Given the description of an element on the screen output the (x, y) to click on. 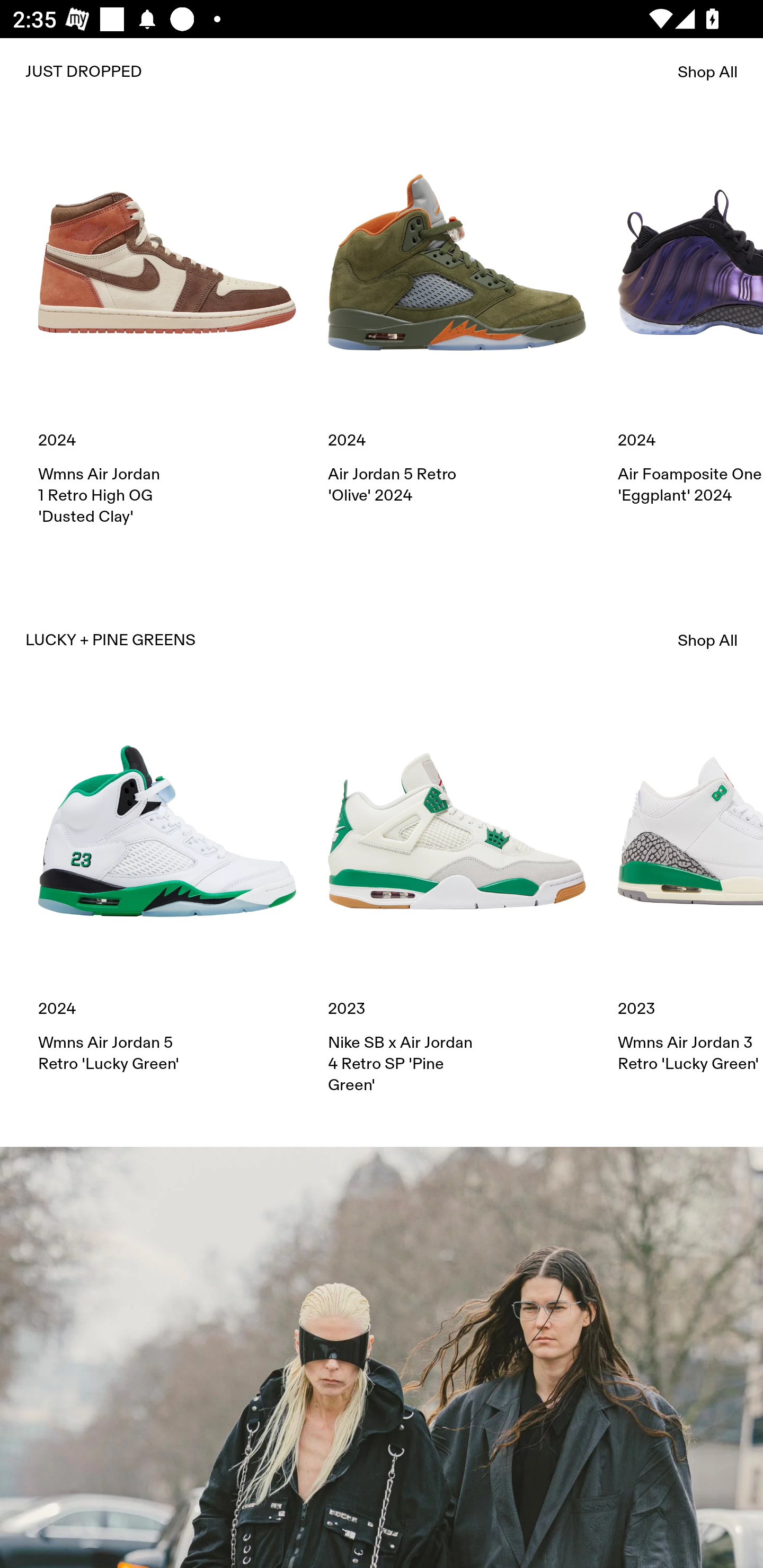
Shop All (707, 71)
2024 Wmns Air Jordan 1 Retro High OG 'Dusted Clay' (167, 329)
2024 Air Jordan 5 Retro 'Olive' 2024 (456, 319)
2024 Air Foamposite One 'Eggplant' 2024 (690, 319)
Shop All (707, 640)
2024 Wmns Air Jordan 5 Retro 'Lucky Green' (167, 888)
2023 Nike SB x Air Jordan 4 Retro SP 'Pine Green' (456, 899)
2023 Wmns Air Jordan 3 Retro 'Lucky Green' (690, 888)
